Given the description of an element on the screen output the (x, y) to click on. 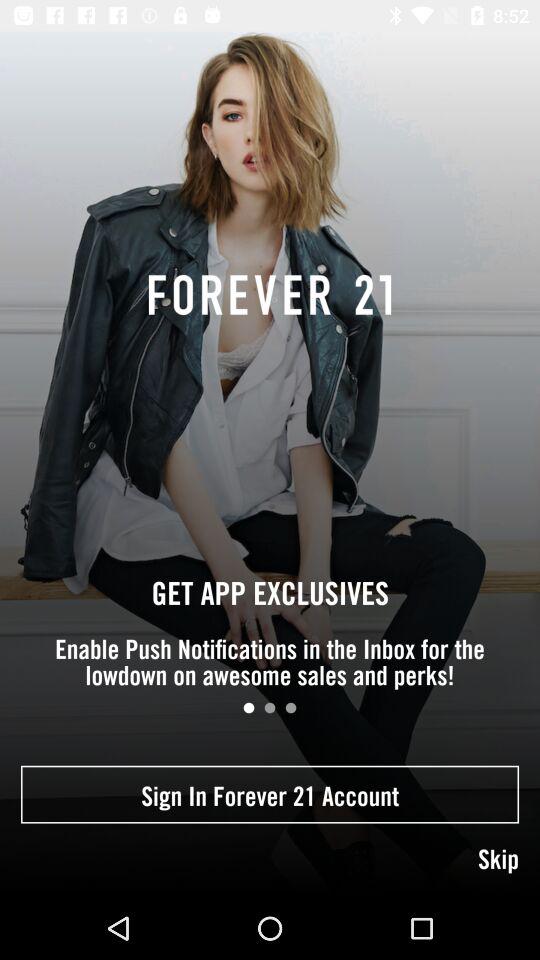
select the sign in forever icon (270, 794)
